Given the description of an element on the screen output the (x, y) to click on. 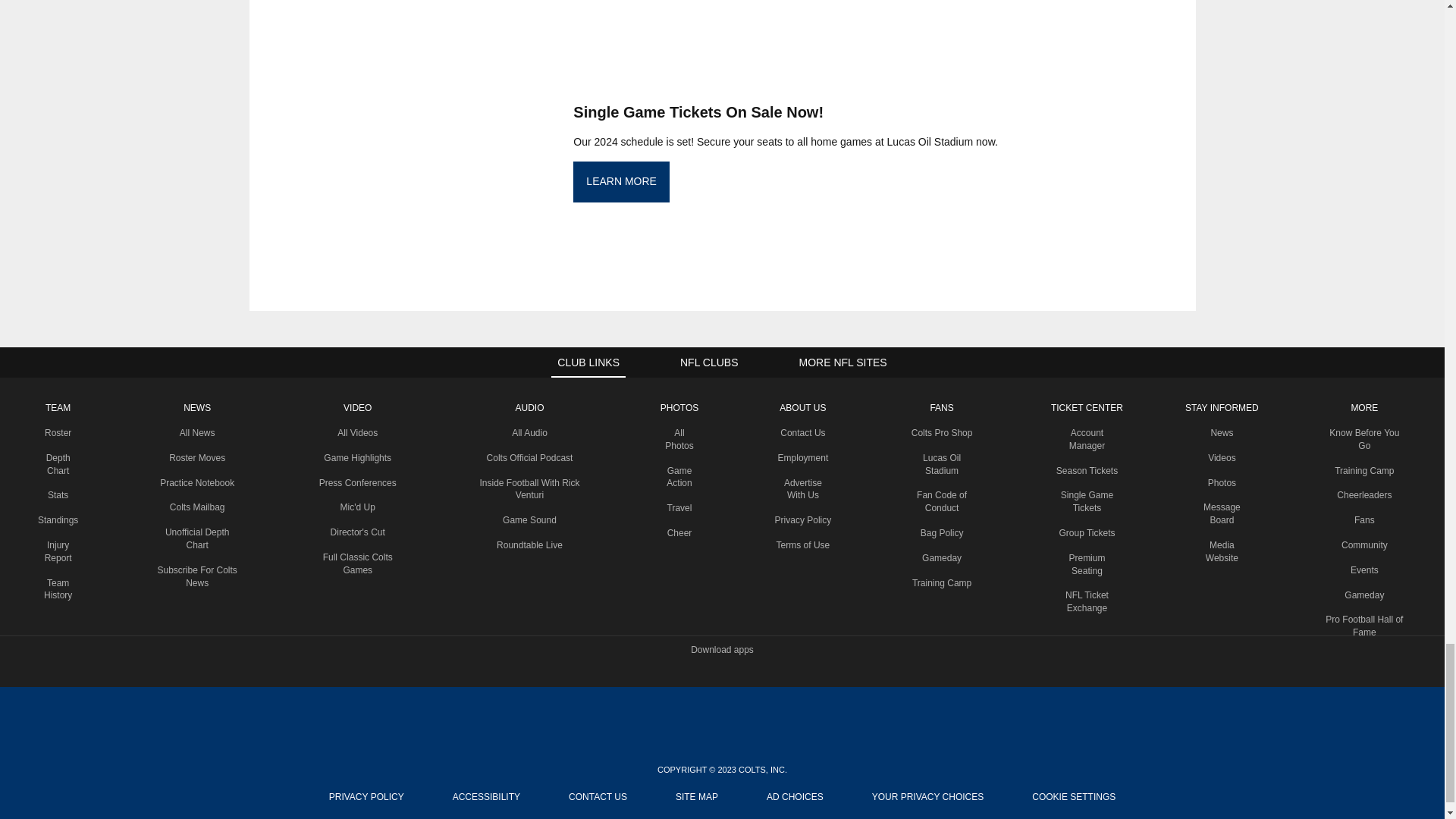
NEWS (197, 407)
Depth Chart (57, 463)
Team History (57, 589)
Stats (58, 494)
TEAM (57, 407)
Injury Report (58, 551)
Standings (57, 520)
Roster (58, 432)
CLUB LINKS (588, 362)
LEARN MORE (621, 181)
